Given the description of an element on the screen output the (x, y) to click on. 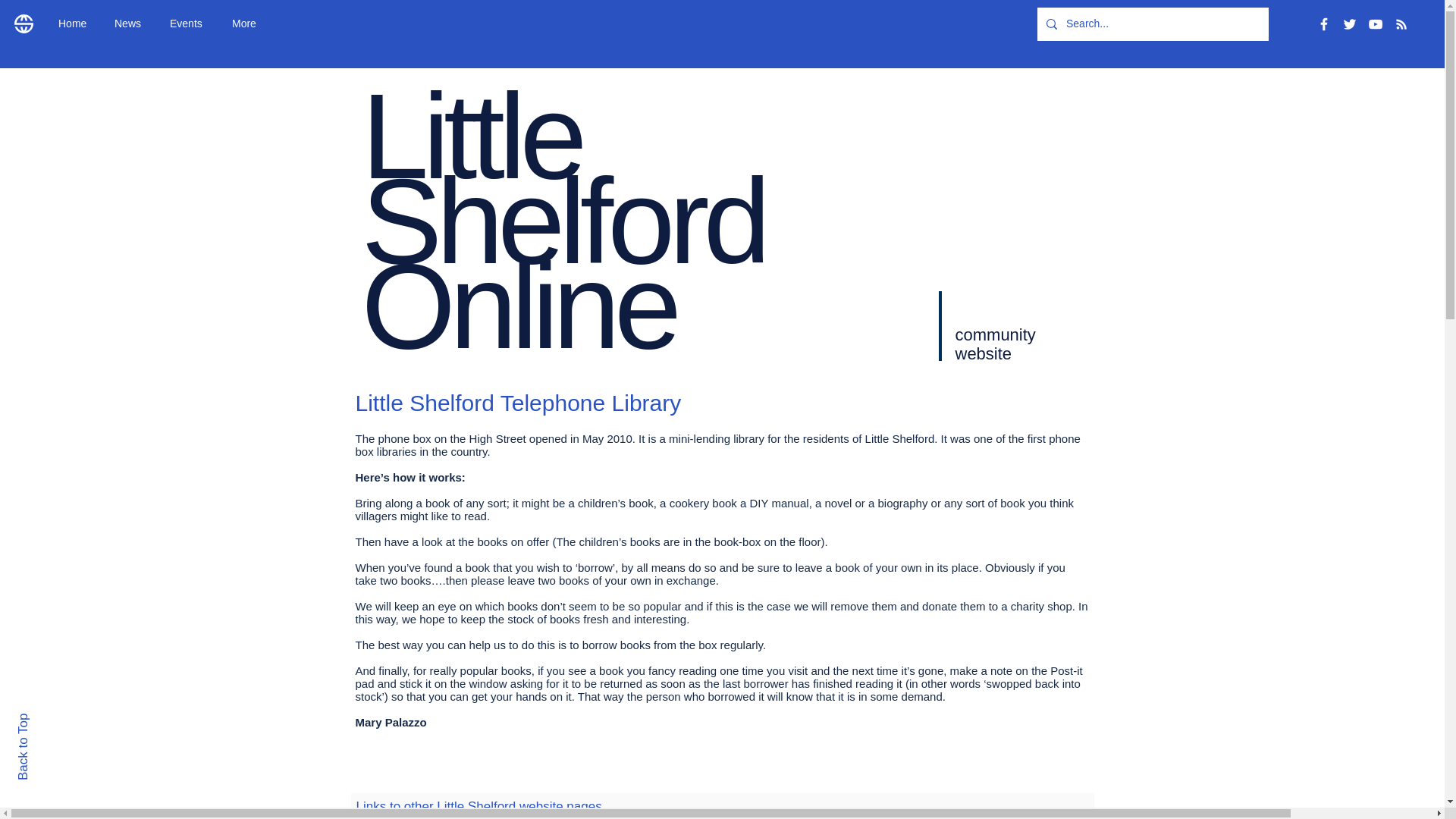
Links to other Little Shelford website pages (479, 806)
Home (74, 23)
Little (470, 135)
Shelford Online (562, 263)
Events (189, 23)
News (130, 23)
